Given the description of an element on the screen output the (x, y) to click on. 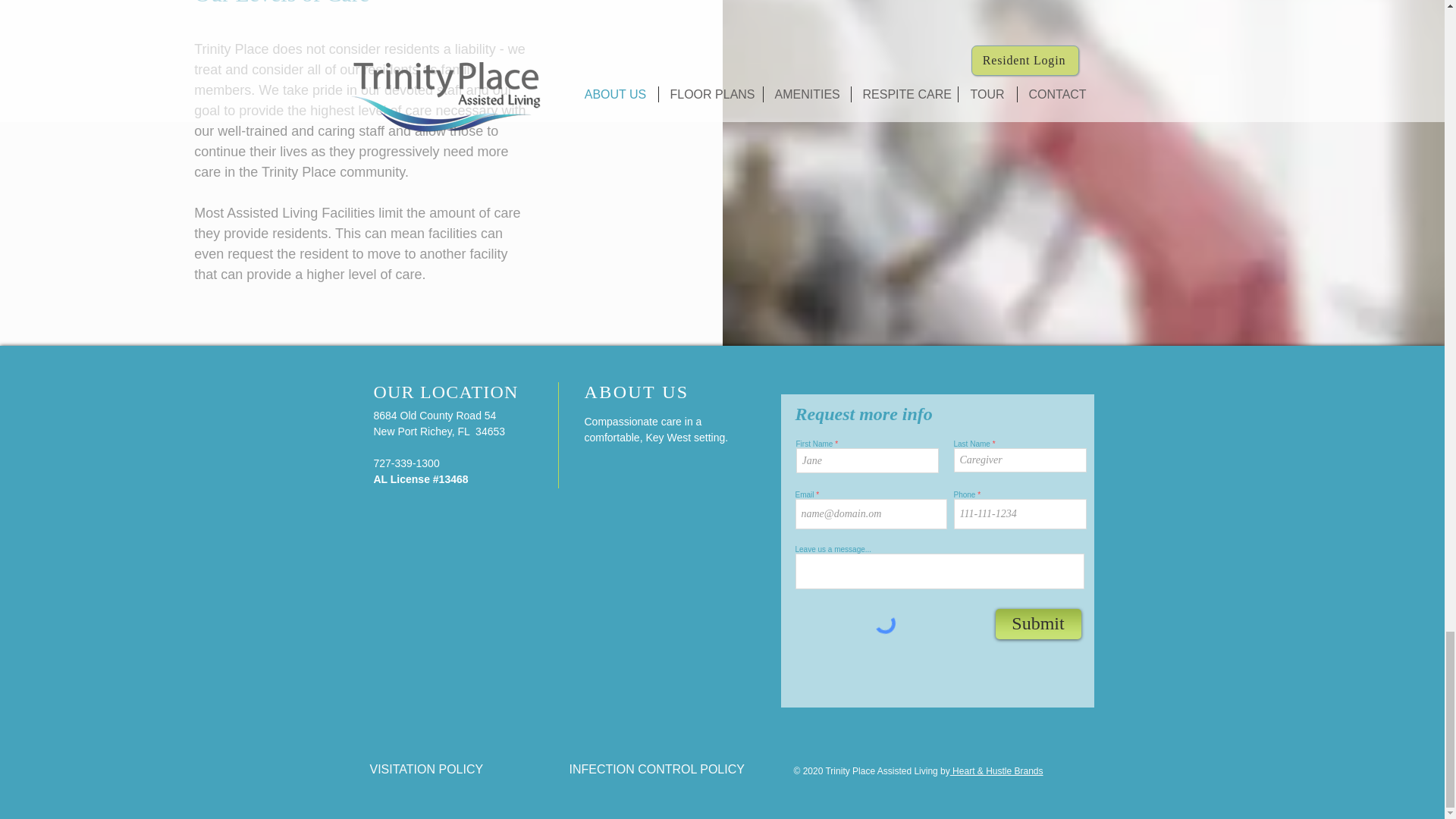
INFECTION CONTROL POLICY (656, 768)
Submit (1037, 624)
VISITATION POLICY (426, 768)
